Given the description of an element on the screen output the (x, y) to click on. 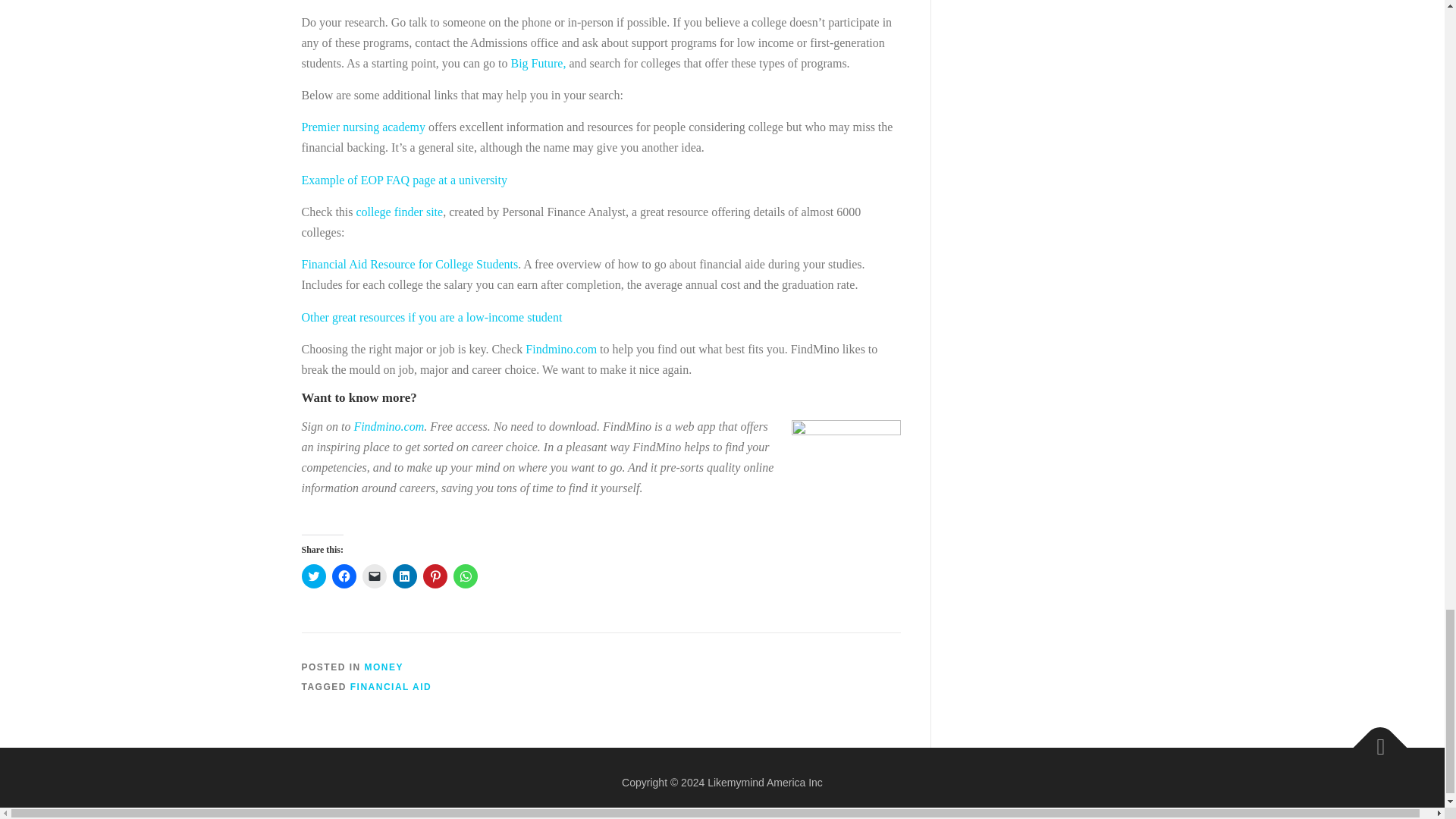
Example of EOP FAQ page at a university (404, 179)
Other great resources if you are a low-income student (431, 317)
Click to share on Pinterest (434, 576)
Back To Top (1372, 740)
college finder site (400, 211)
Premier nursing academy (363, 126)
Big Future, (538, 62)
Click to share on WhatsApp (464, 576)
Click to share on LinkedIn (404, 576)
Click to share on Twitter (313, 576)
Financial Aid Resource for College Students (409, 264)
Click to share on Facebook (343, 576)
Click to email a link to a friend (374, 576)
